Given the description of an element on the screen output the (x, y) to click on. 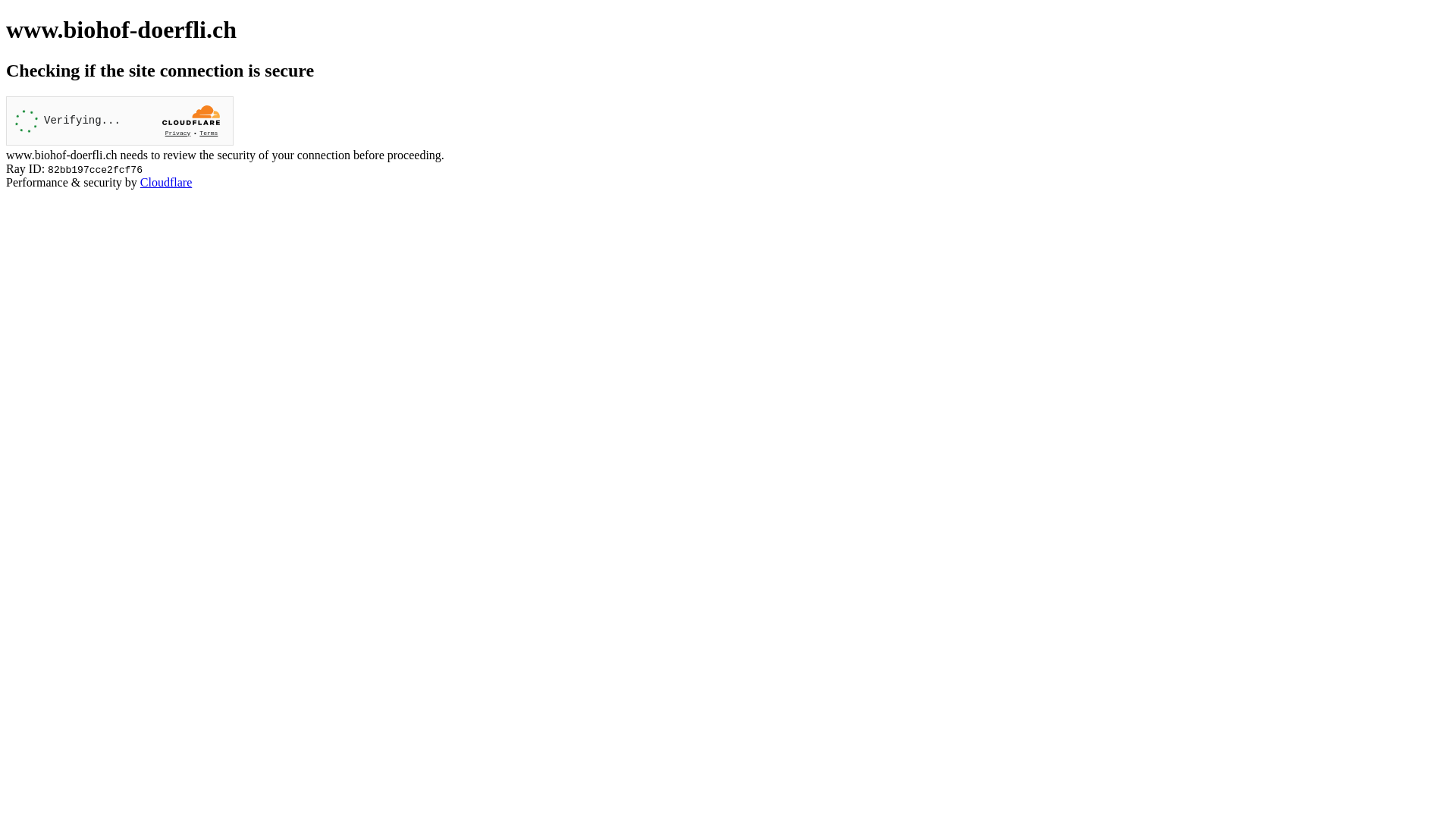
Widget containing a Cloudflare security challenge Element type: hover (119, 120)
Cloudflare Element type: text (165, 181)
